Given the description of an element on the screen output the (x, y) to click on. 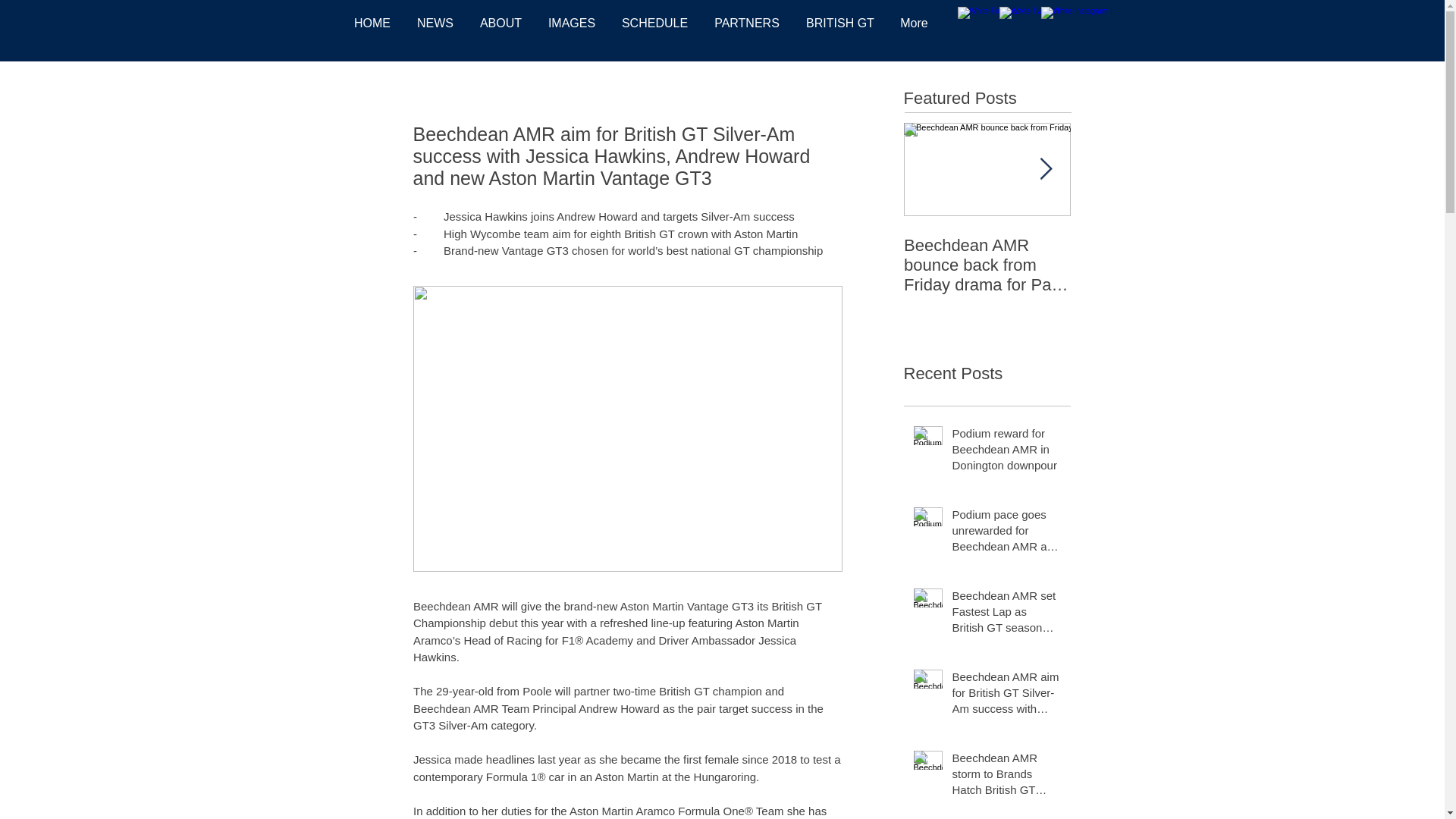
BRITISH GT (840, 23)
Beechdean AMR storm to Brands Hatch British GT podium (1006, 776)
HOME (372, 23)
PARTNERS (746, 23)
ABOUT (501, 23)
IMAGES (571, 23)
